Given the description of an element on the screen output the (x, y) to click on. 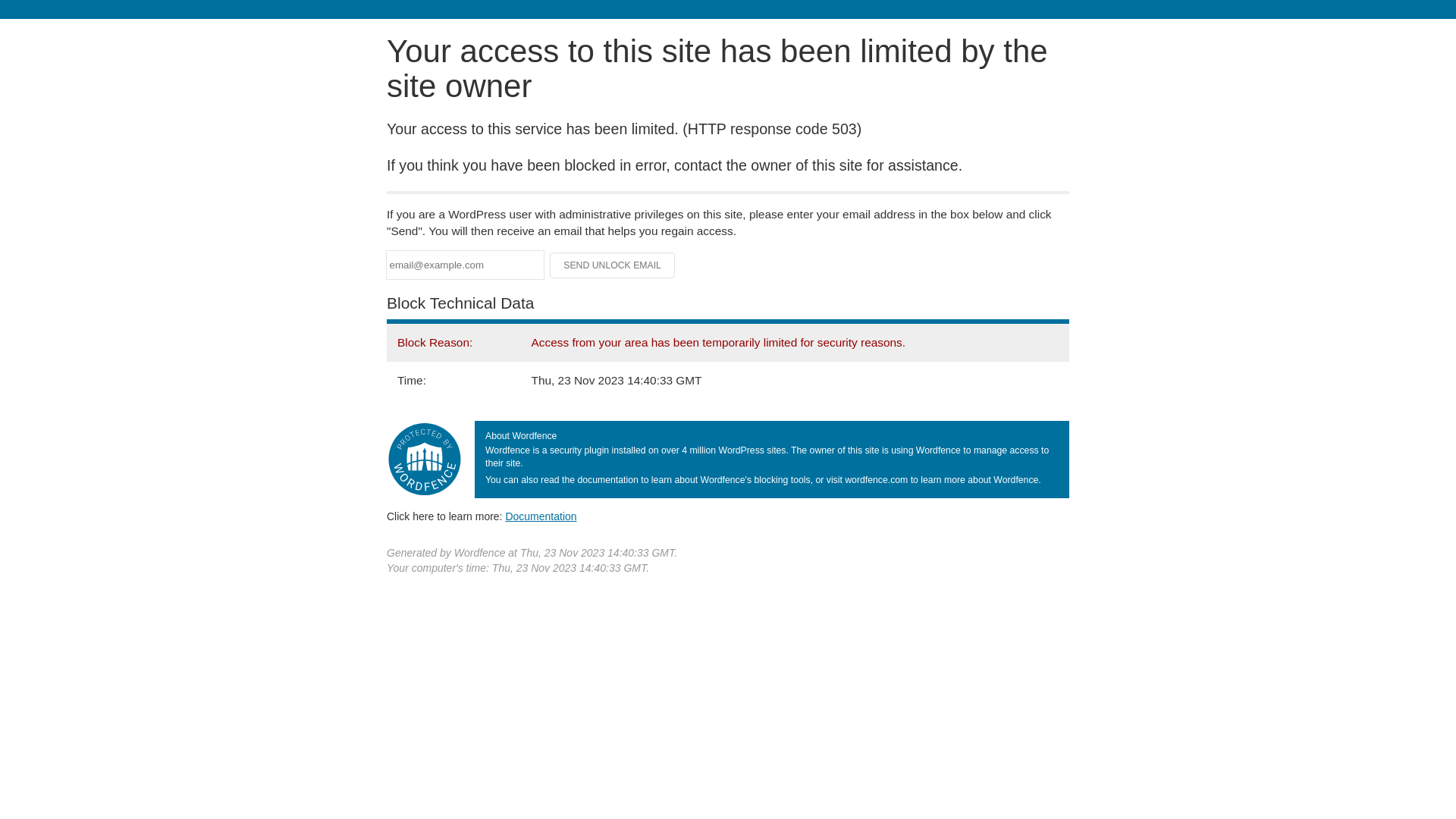
Documentation Element type: text (540, 516)
Send Unlock Email Element type: text (612, 265)
